Given the description of an element on the screen output the (x, y) to click on. 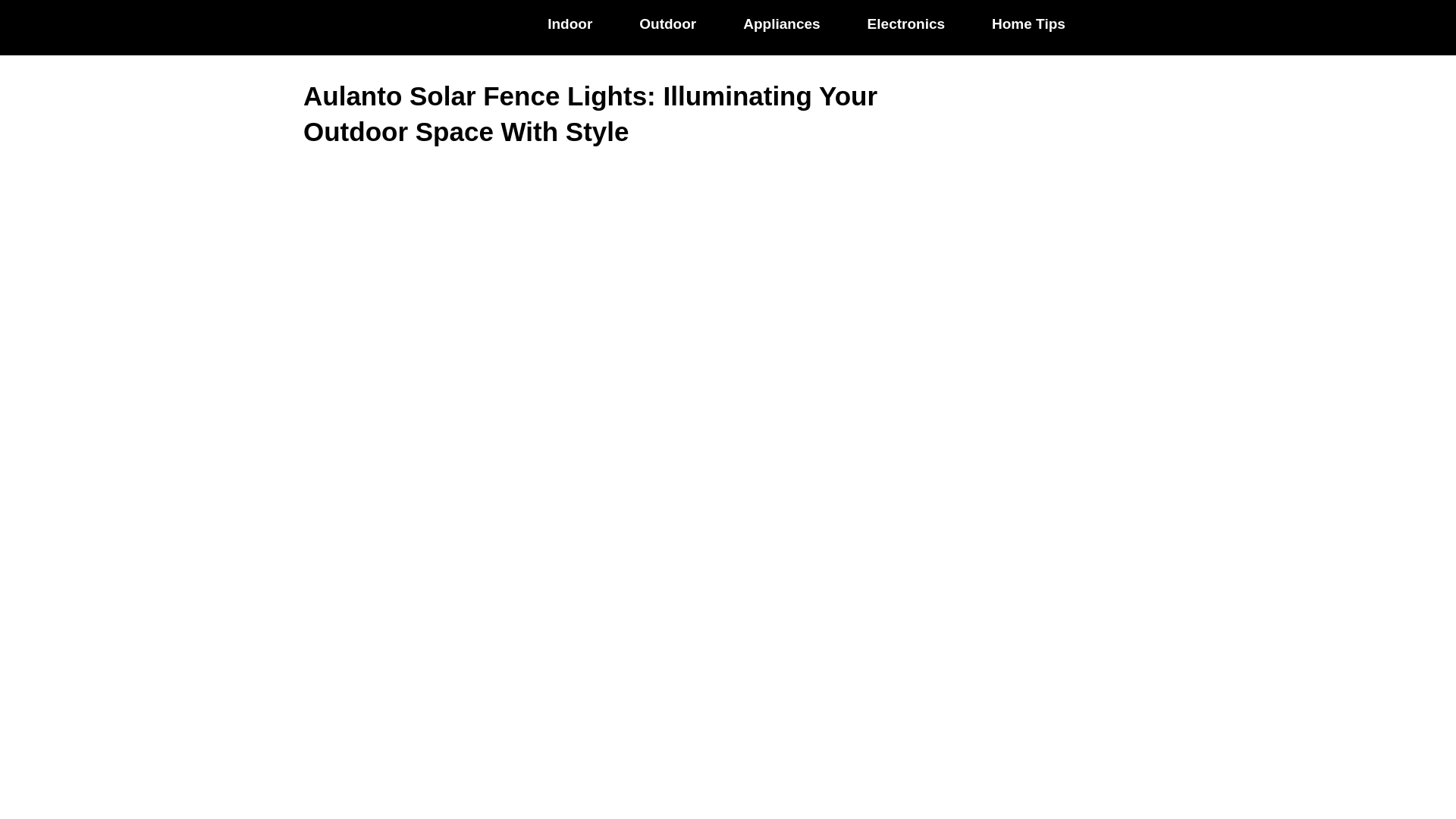
Electronics (906, 23)
Indoor (569, 23)
Appliances (781, 23)
Outdoor (667, 23)
